Given the description of an element on the screen output the (x, y) to click on. 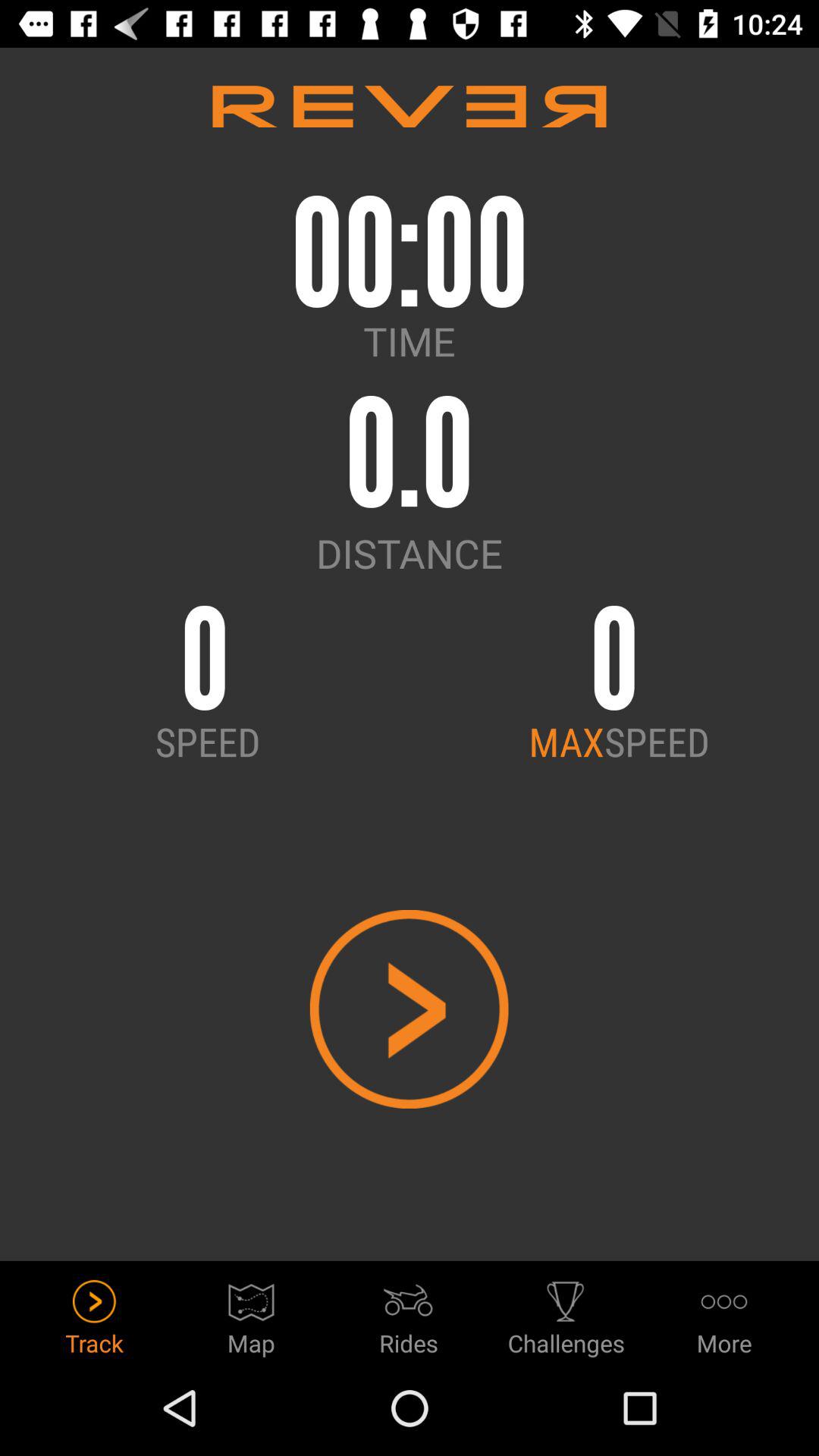
launch rides item (408, 1313)
